Given the description of an element on the screen output the (x, y) to click on. 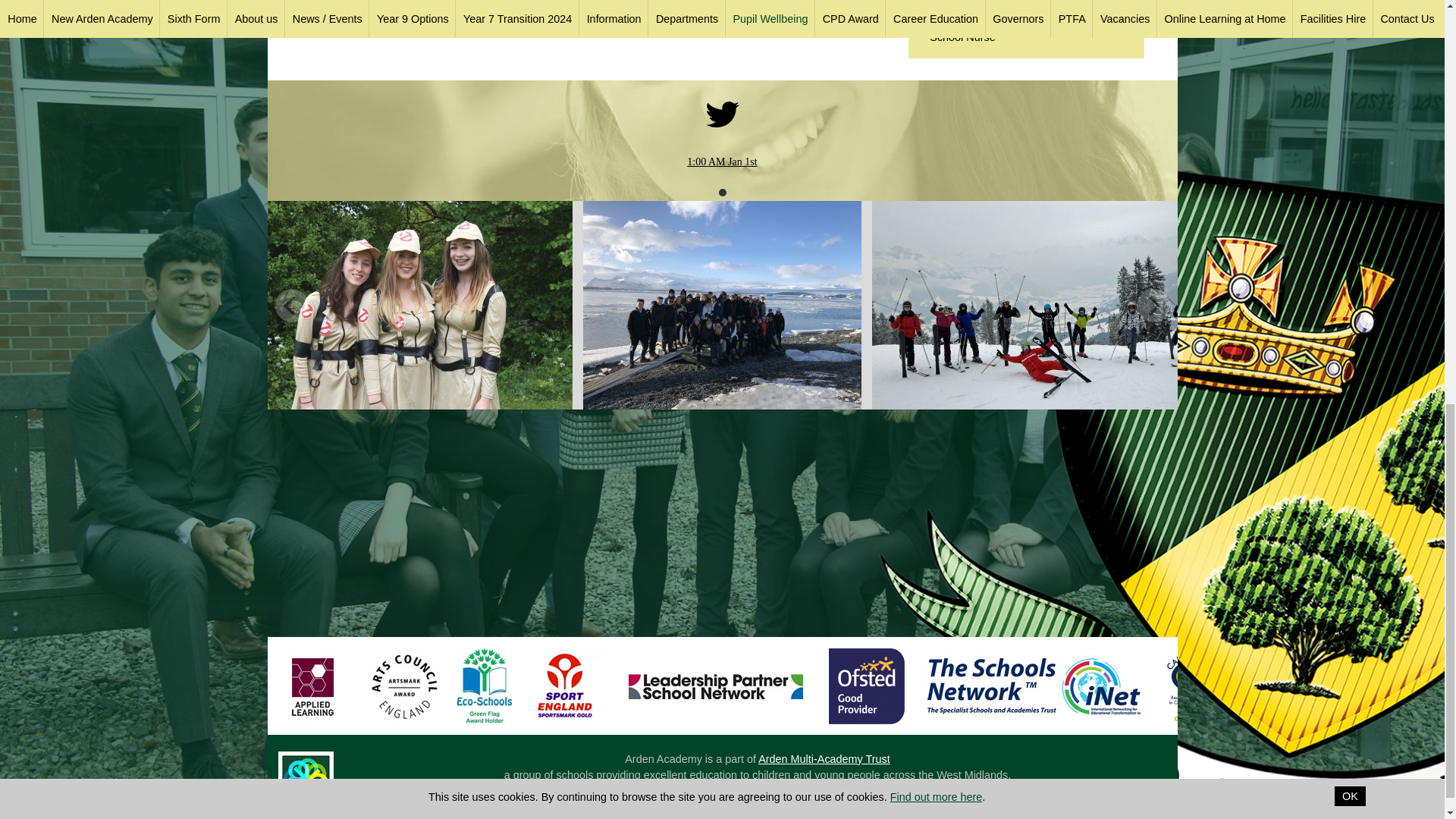
Arden Multi-Academy Trust (823, 758)
